Given the description of an element on the screen output the (x, y) to click on. 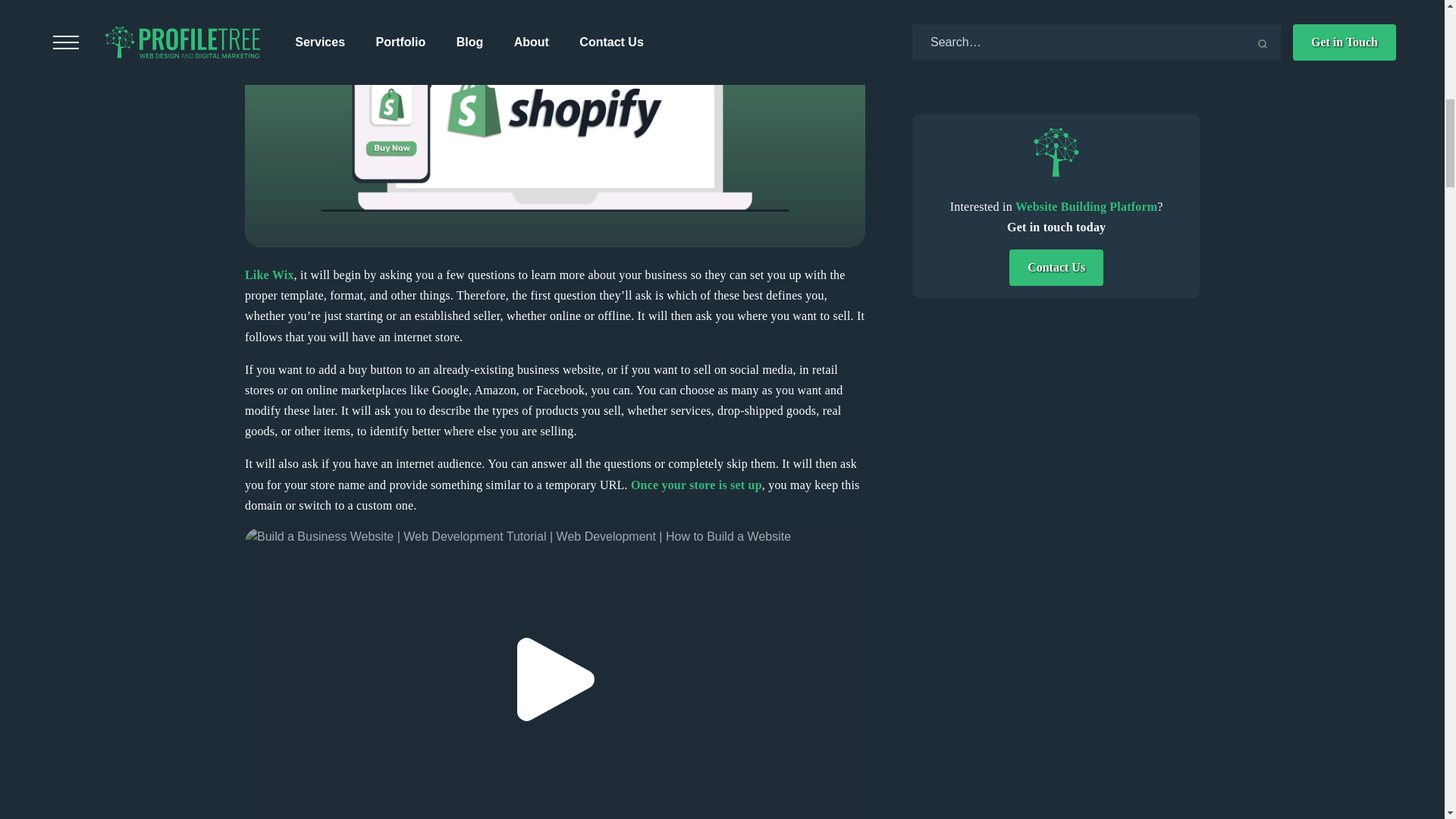
Like Wix (269, 274)
Once your store is set up (695, 484)
